Given the description of an element on the screen output the (x, y) to click on. 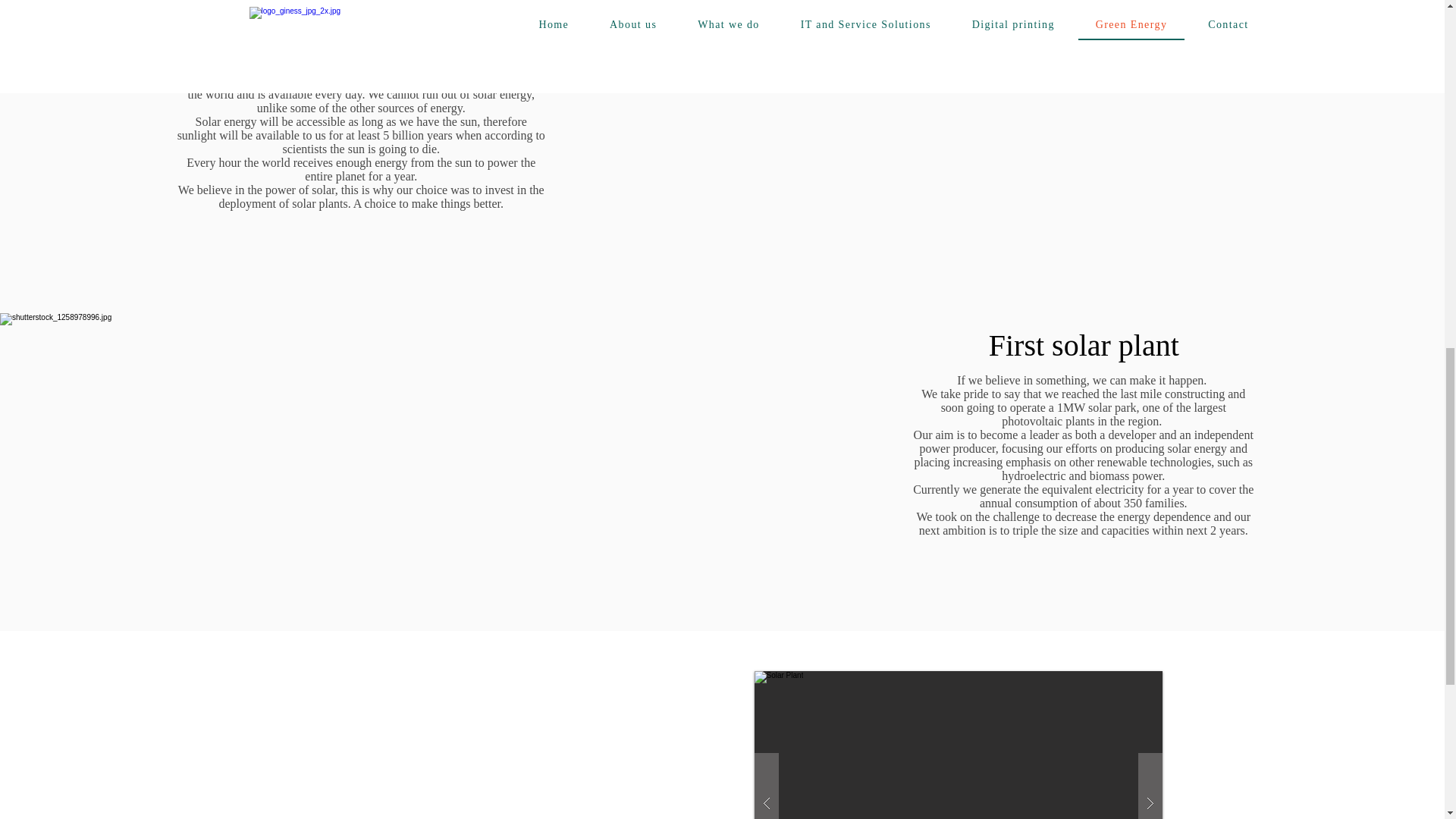
solar energy is a truly renewable energy source (361, 73)
